Given the description of an element on the screen output the (x, y) to click on. 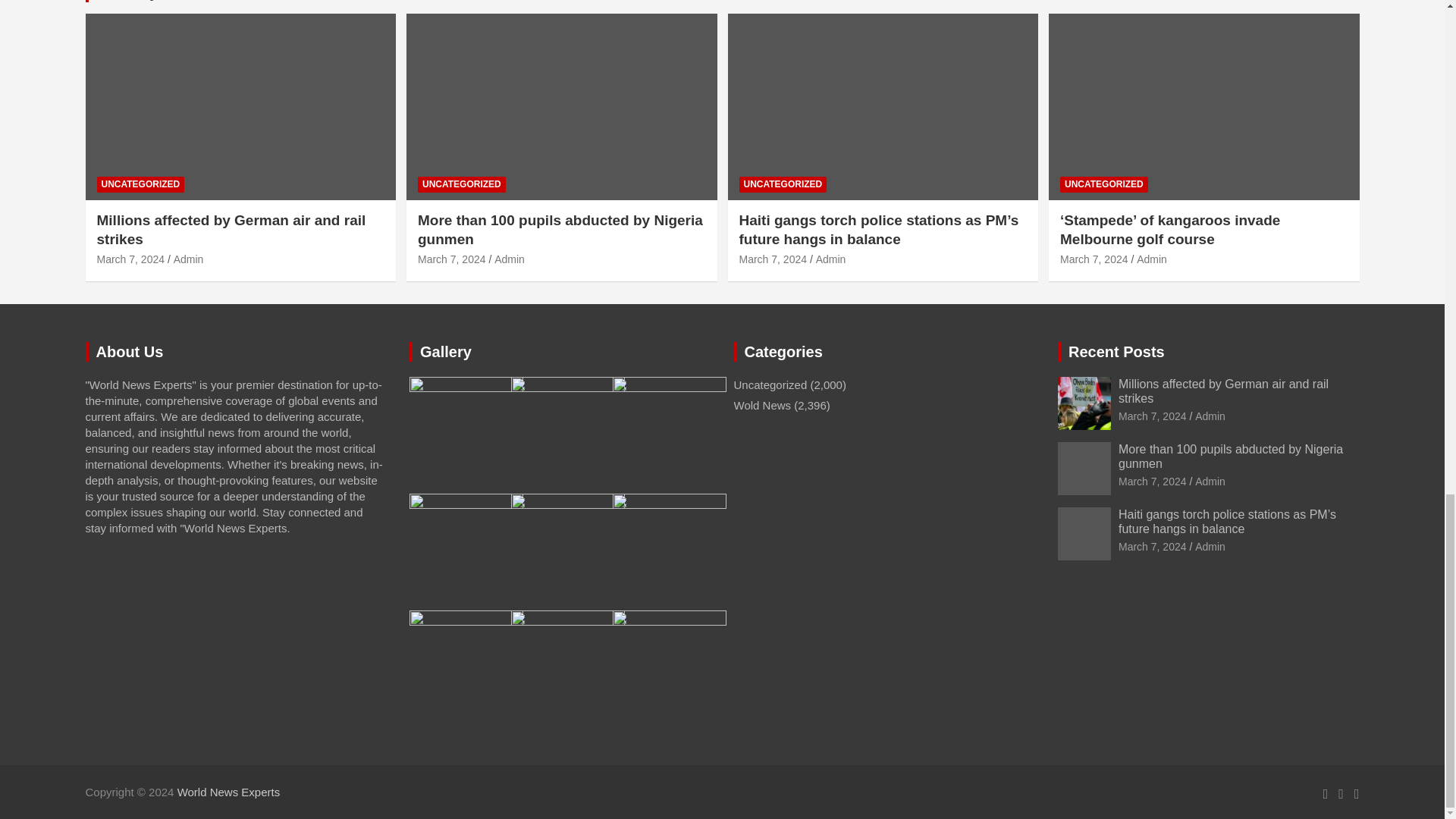
More than 100 pupils abducted by Nigeria gunmen (451, 259)
Millions affected by German air and rail strikes (131, 259)
World News Experts (229, 791)
More than 100 pupils abducted by Nigeria gunmen (1152, 481)
Millions affected by German air and rail strikes (1152, 416)
